Given the description of an element on the screen output the (x, y) to click on. 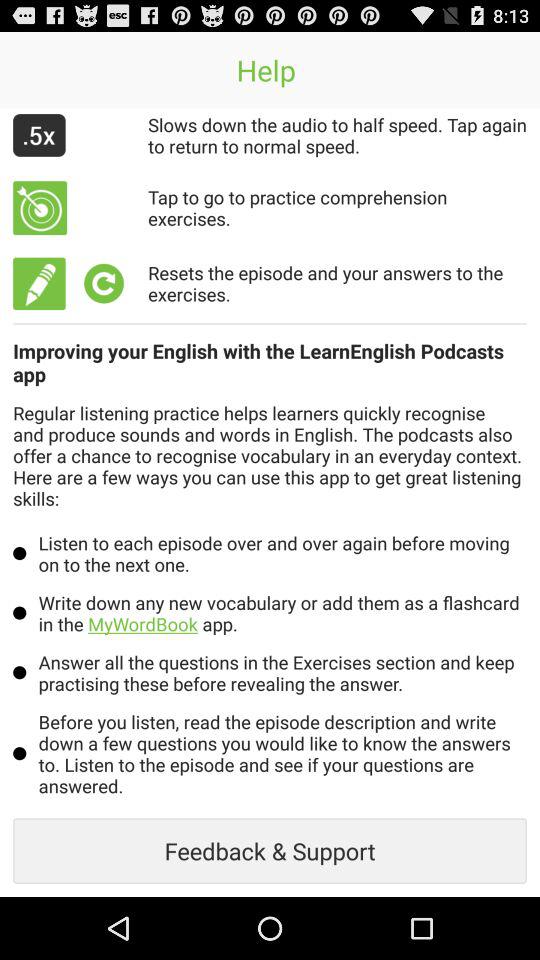
choose feedback & support item (269, 850)
